Given the description of an element on the screen output the (x, y) to click on. 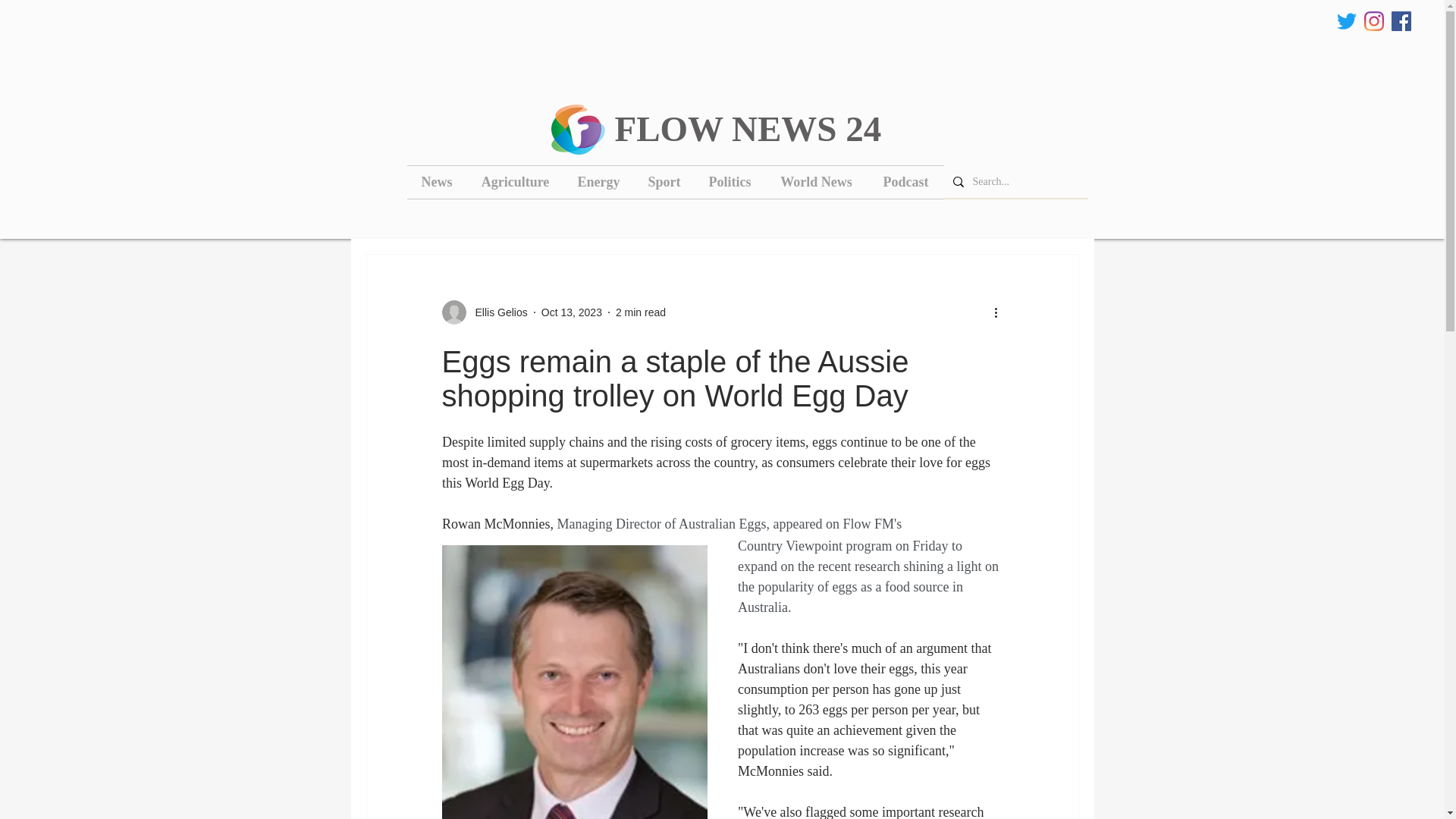
Sport (664, 182)
Energy (598, 182)
Ellis Gelios (496, 312)
Podcast (905, 182)
Politics (729, 182)
World News (815, 182)
2 min read (640, 312)
Oct 13, 2023 (571, 312)
News (435, 182)
Agriculture (515, 182)
